Given the description of an element on the screen output the (x, y) to click on. 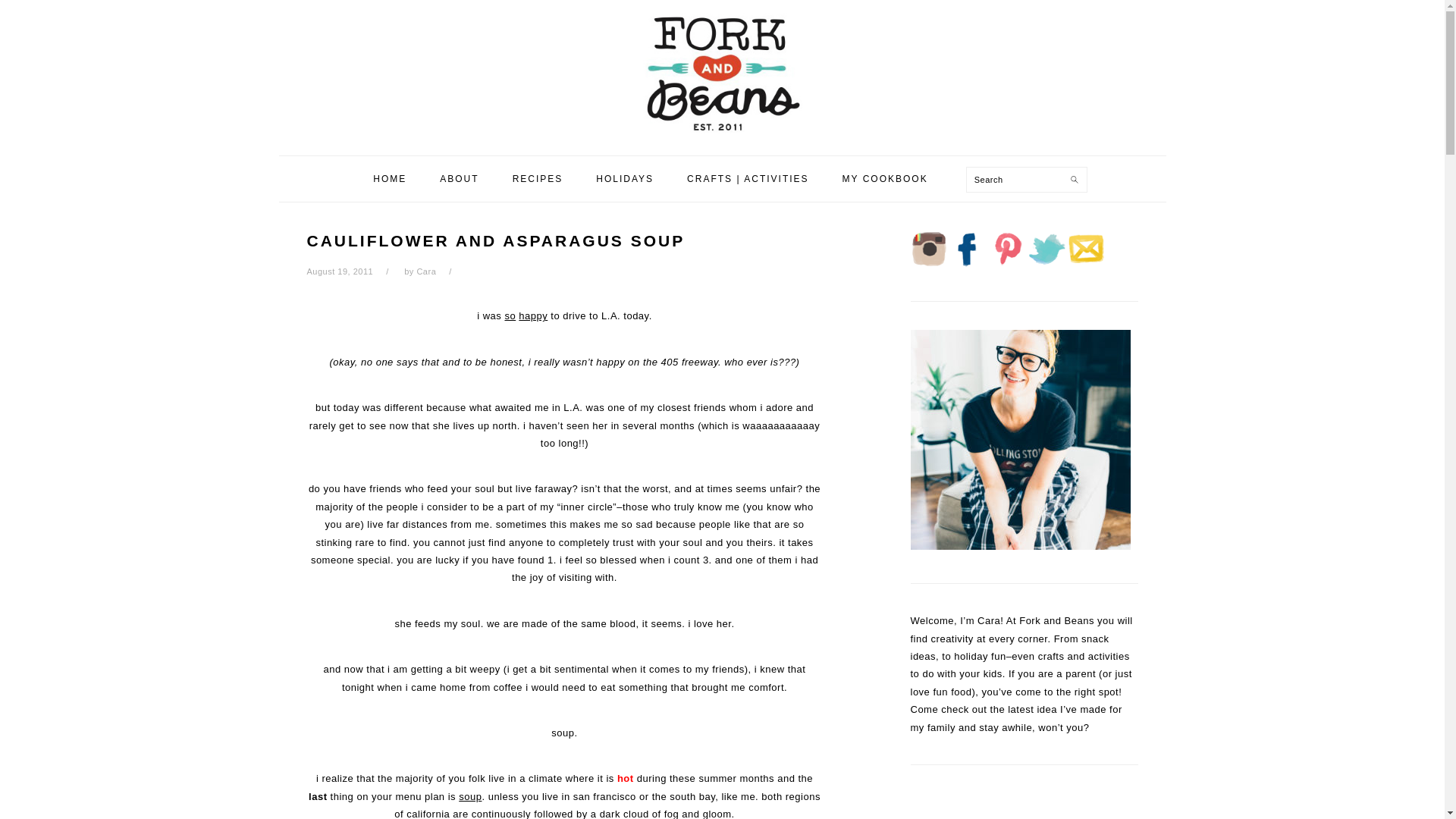
FORK AND BEANS (722, 73)
HOME (389, 178)
HOLIDAYS (624, 178)
Cara (425, 271)
ABOUT (459, 178)
MY COOKBOOK (885, 178)
RECIPES (537, 178)
